Given the description of an element on the screen output the (x, y) to click on. 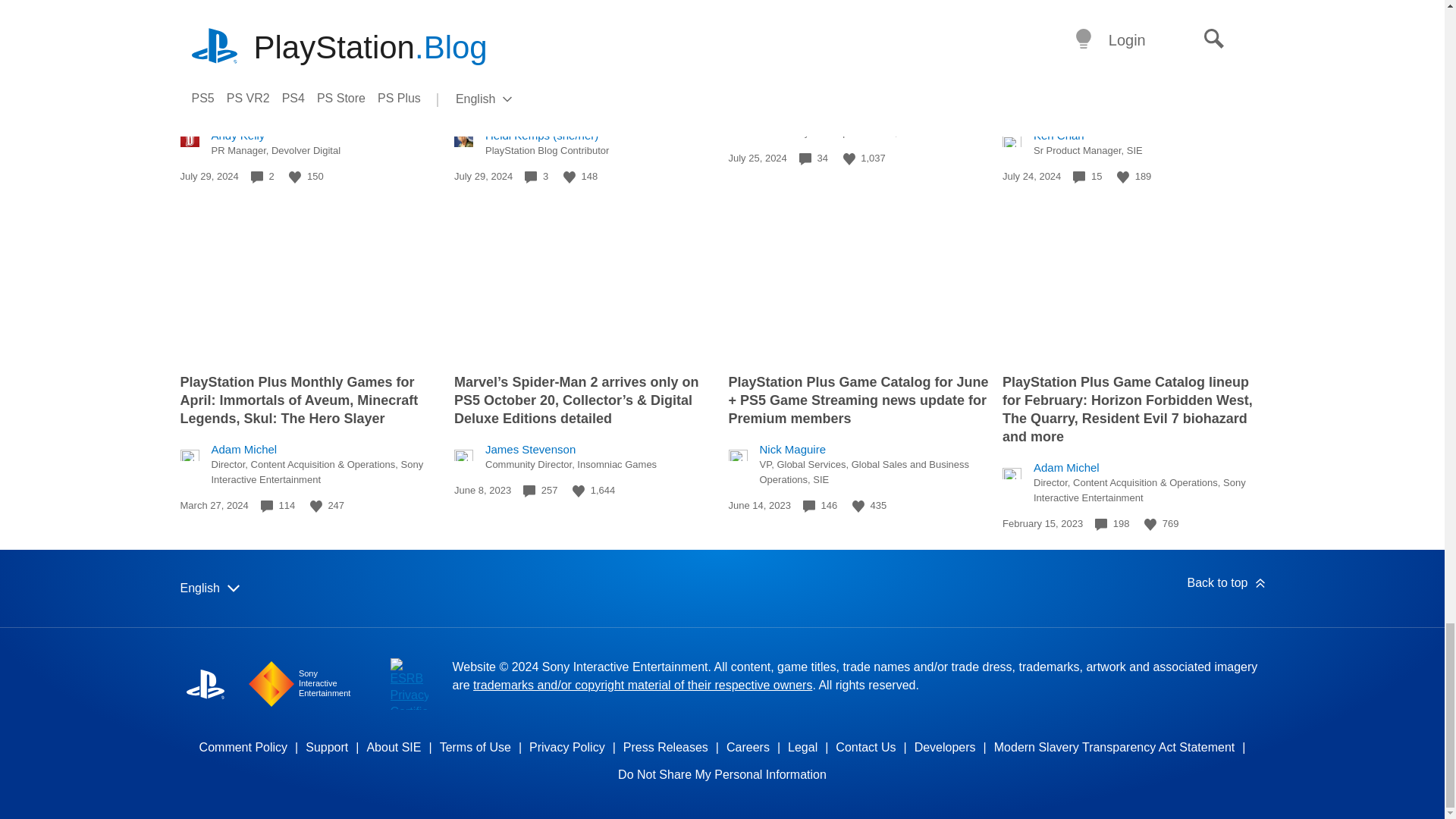
Like this (315, 506)
Like this (849, 159)
Like this (569, 177)
Like this (294, 177)
Like this (1122, 177)
